Given the description of an element on the screen output the (x, y) to click on. 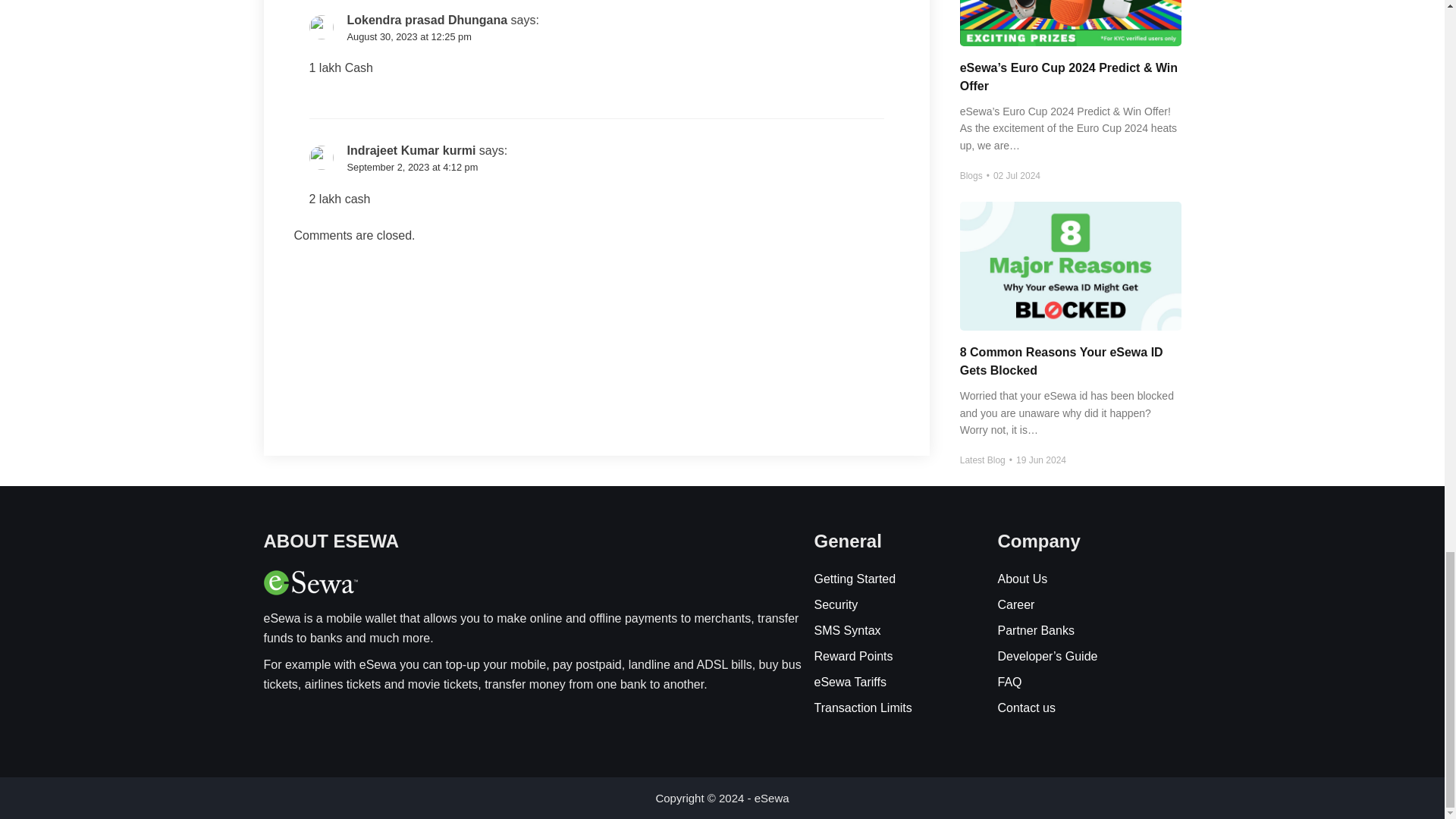
August 30, 2023 at 12:25 pm (409, 36)
September 2, 2023 at 4:12 pm (413, 166)
